Given the description of an element on the screen output the (x, y) to click on. 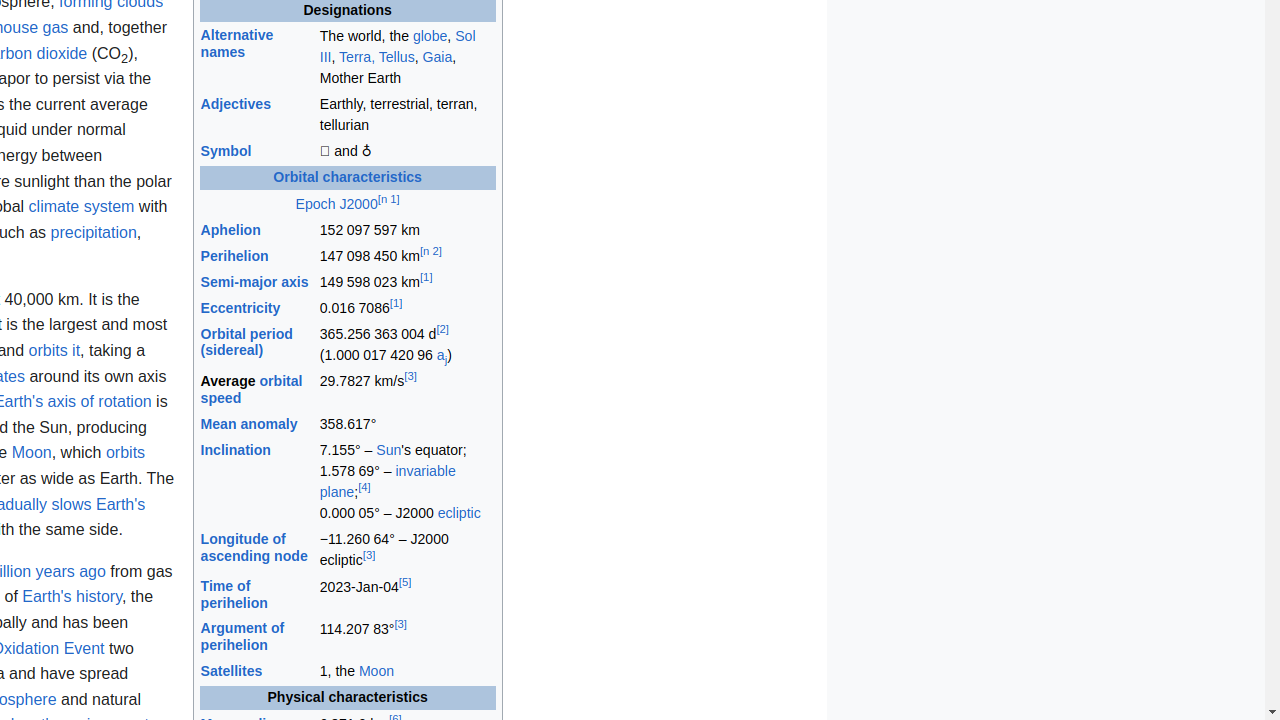
Epoch J2000[n 1] Element type: table-cell (347, 204)
🜨 and ♁ Element type: table-cell (407, 152)
[4] Element type: link (364, 487)
[n 1] Element type: link (388, 198)
29.7827 km/s[3] Element type: table-cell (407, 389)
